Given the description of an element on the screen output the (x, y) to click on. 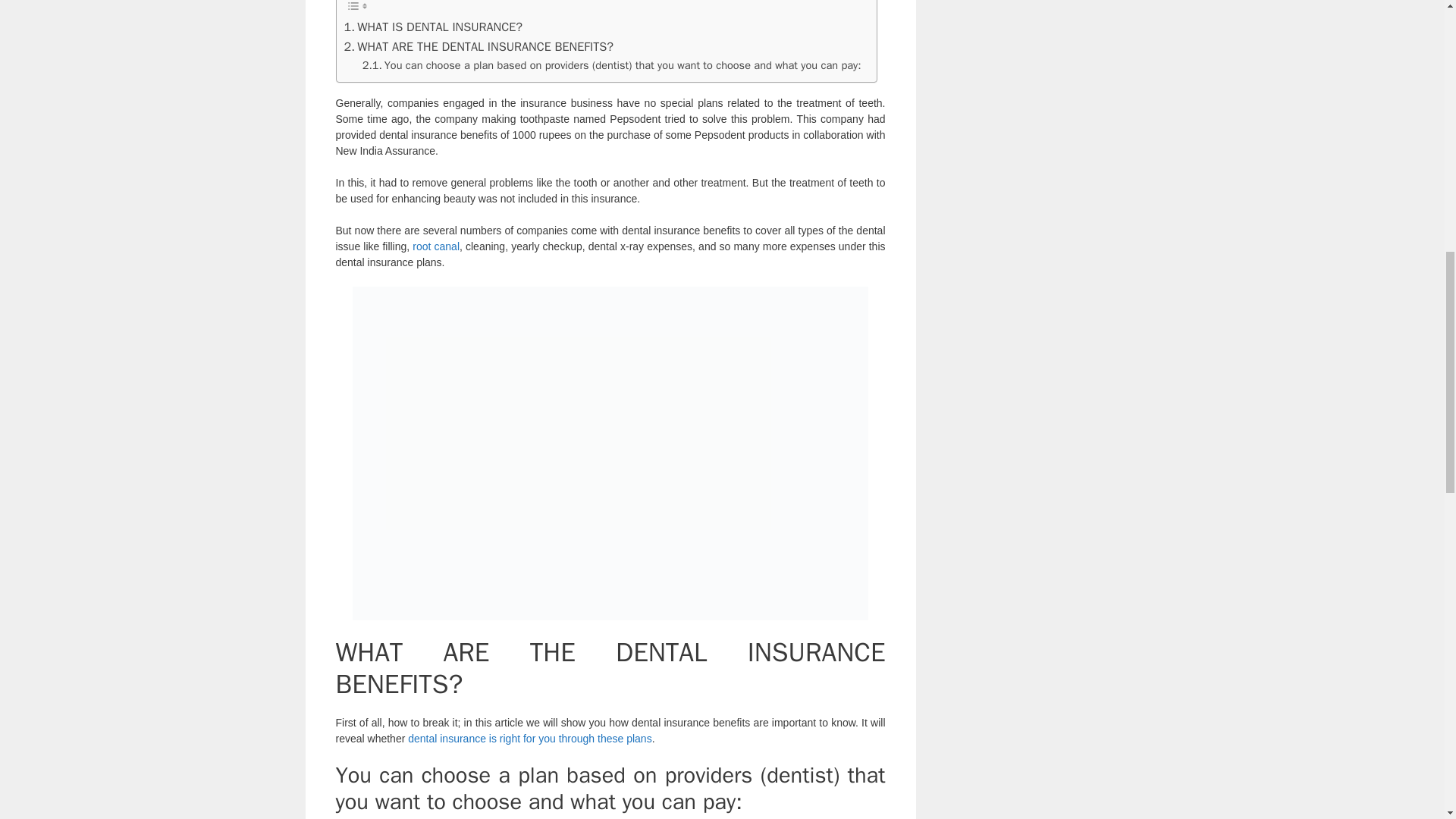
dental insurance is right for you through these plans (528, 738)
root canal (436, 246)
WHAT IS DENTAL INSURANCE? (432, 26)
WHAT ARE THE DENTAL INSURANCE BENEFITS? (477, 46)
Scroll back to top (1406, 720)
WHAT ARE THE DENTAL INSURANCE BENEFITS? (477, 46)
WHAT IS DENTAL INSURANCE? (432, 26)
